Given the description of an element on the screen output the (x, y) to click on. 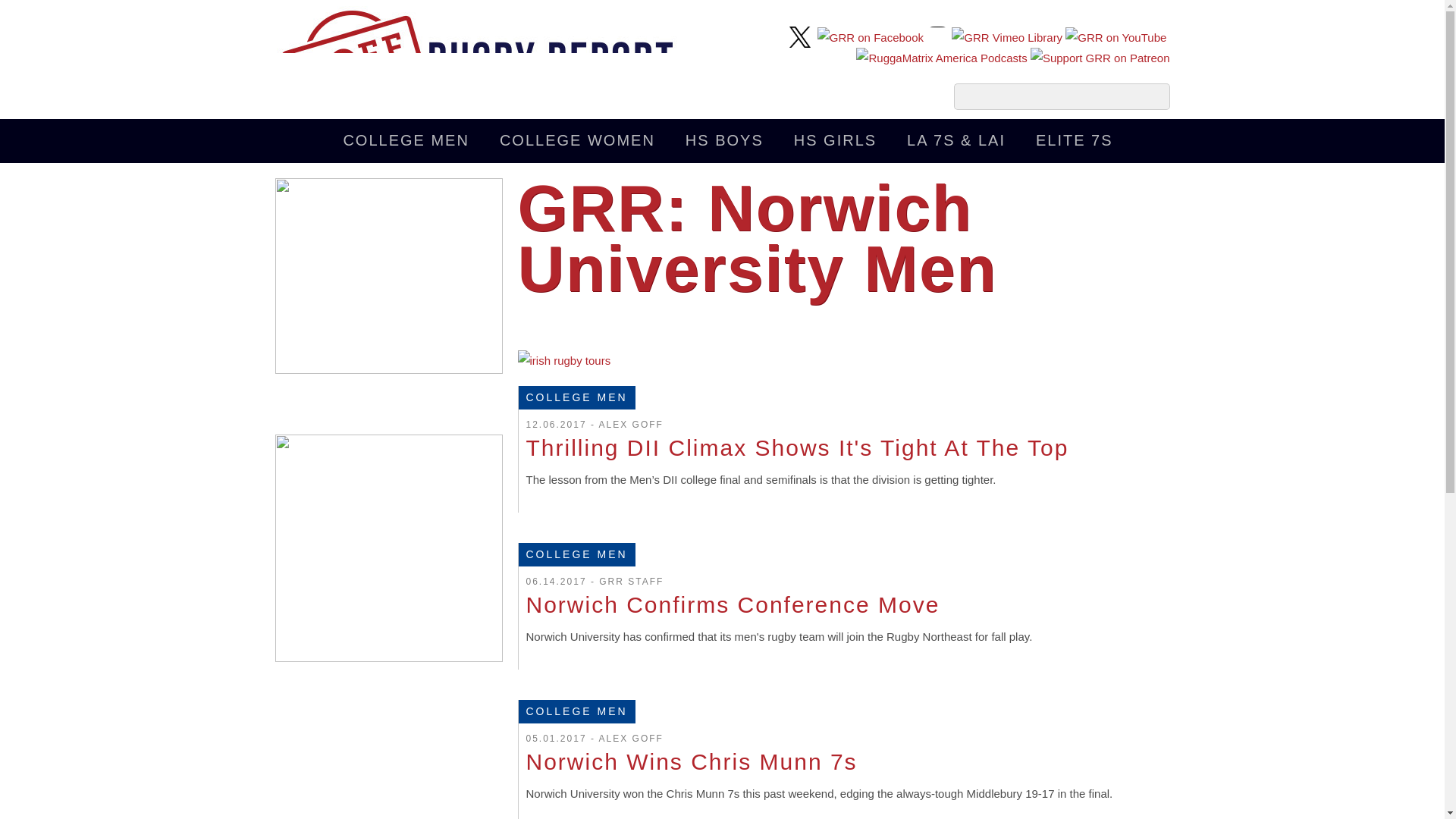
College Women (577, 139)
COLLEGE MEN (576, 397)
Thrilling DII Climax Shows It's Tight At The Top (796, 447)
Norwich Wins Chris Munn 7s (691, 761)
COLLEGE MEN (576, 553)
HS BOYS (723, 139)
COLLEGE MEN (405, 139)
COLLEGE WOMEN (577, 139)
HS GIRLS (834, 139)
Search (1156, 96)
